Given the description of an element on the screen output the (x, y) to click on. 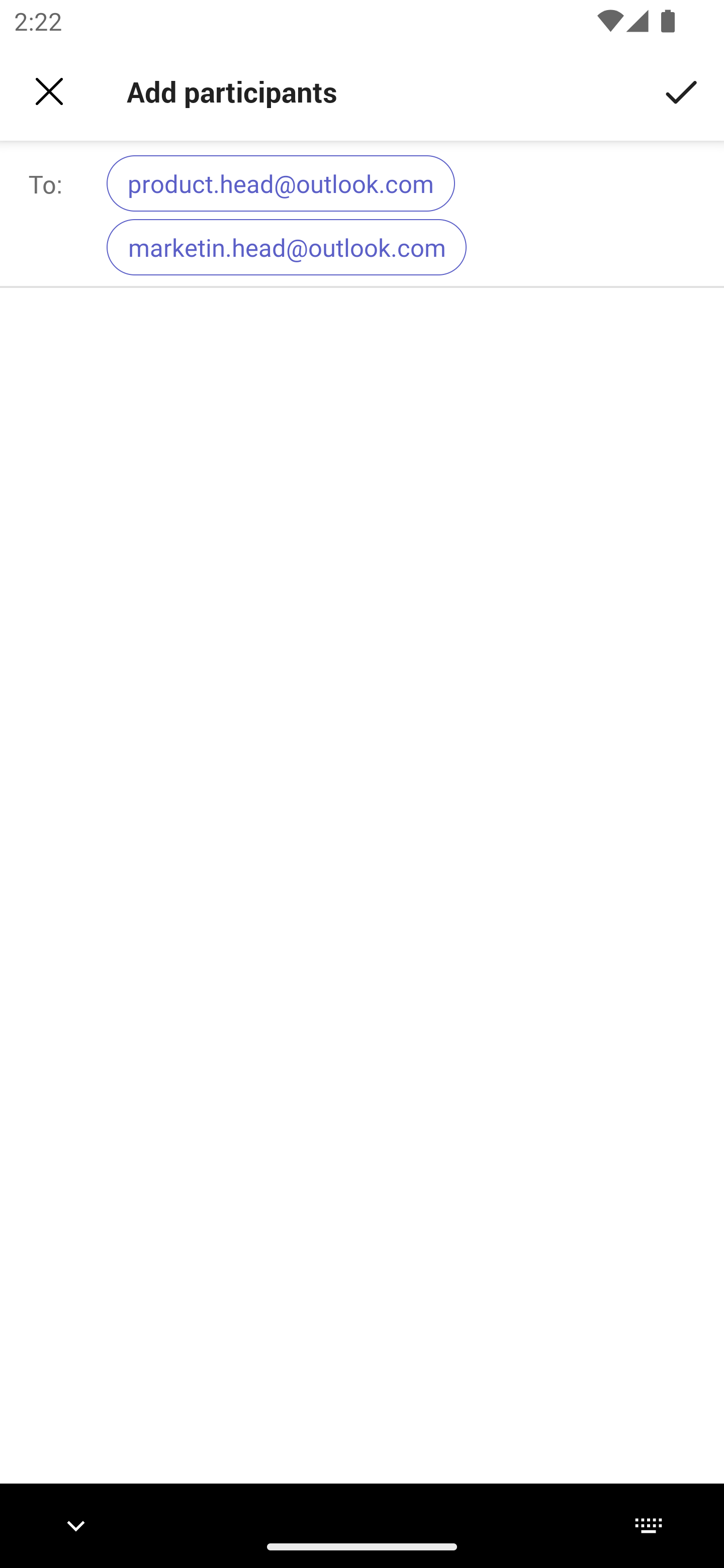
Back (49, 91)
Submit (681, 90)
